Given the description of an element on the screen output the (x, y) to click on. 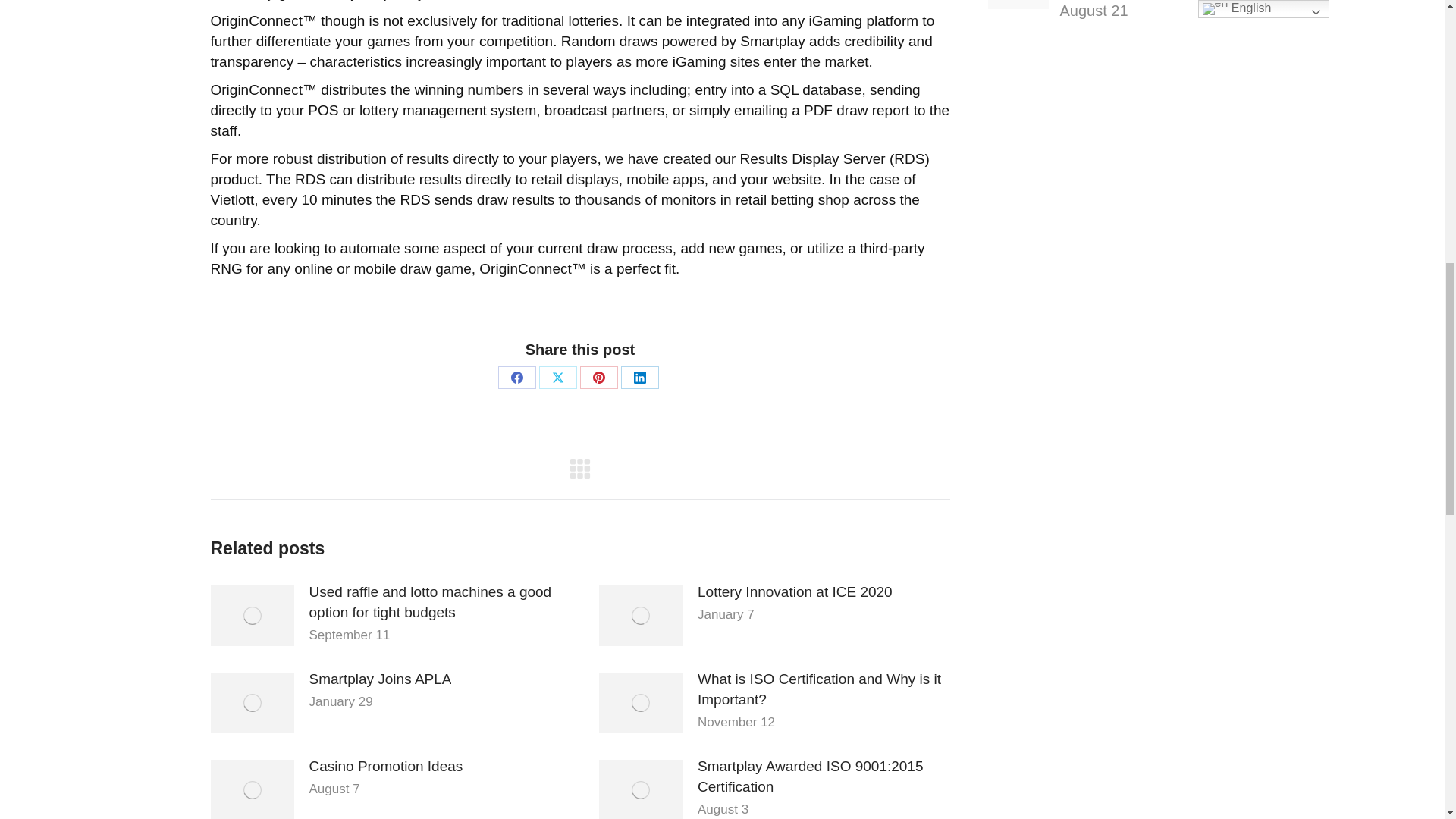
LinkedIn (640, 376)
Facebook (516, 376)
Pinterest (598, 376)
X (557, 376)
